Given the description of an element on the screen output the (x, y) to click on. 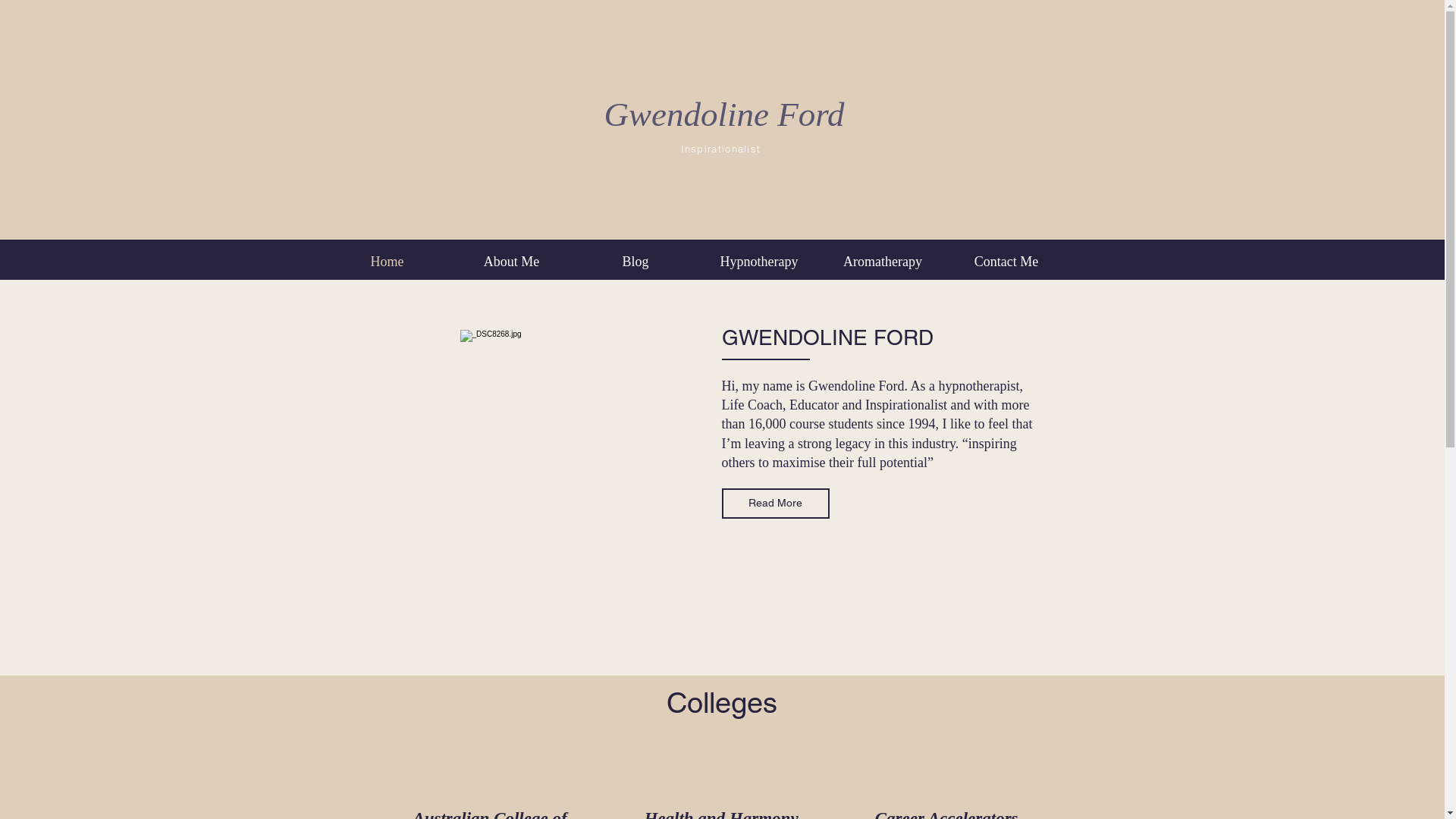
Home Element type: text (386, 261)
Gwendoline Ford Element type: text (723, 114)
Contact Me Element type: text (1006, 261)
Blog Element type: text (634, 261)
Aromatherapy Element type: text (882, 261)
Hypnotherapy Element type: text (759, 261)
Inspirationalist Element type: text (720, 148)
Read More Element type: text (775, 503)
About Me Element type: text (510, 261)
